Given the description of an element on the screen output the (x, y) to click on. 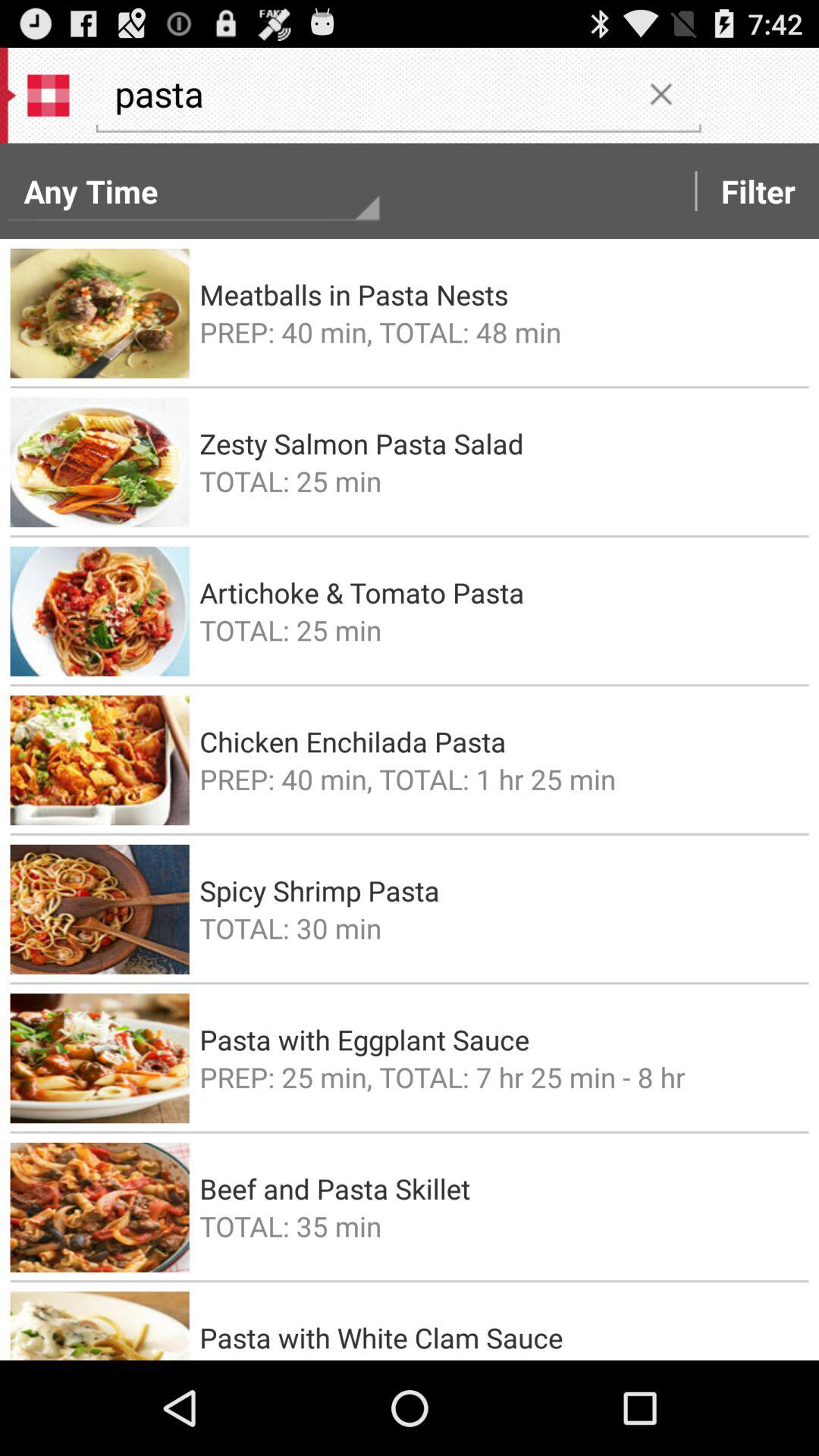
jump to the chicken enchilada pasta item (498, 741)
